Given the description of an element on the screen output the (x, y) to click on. 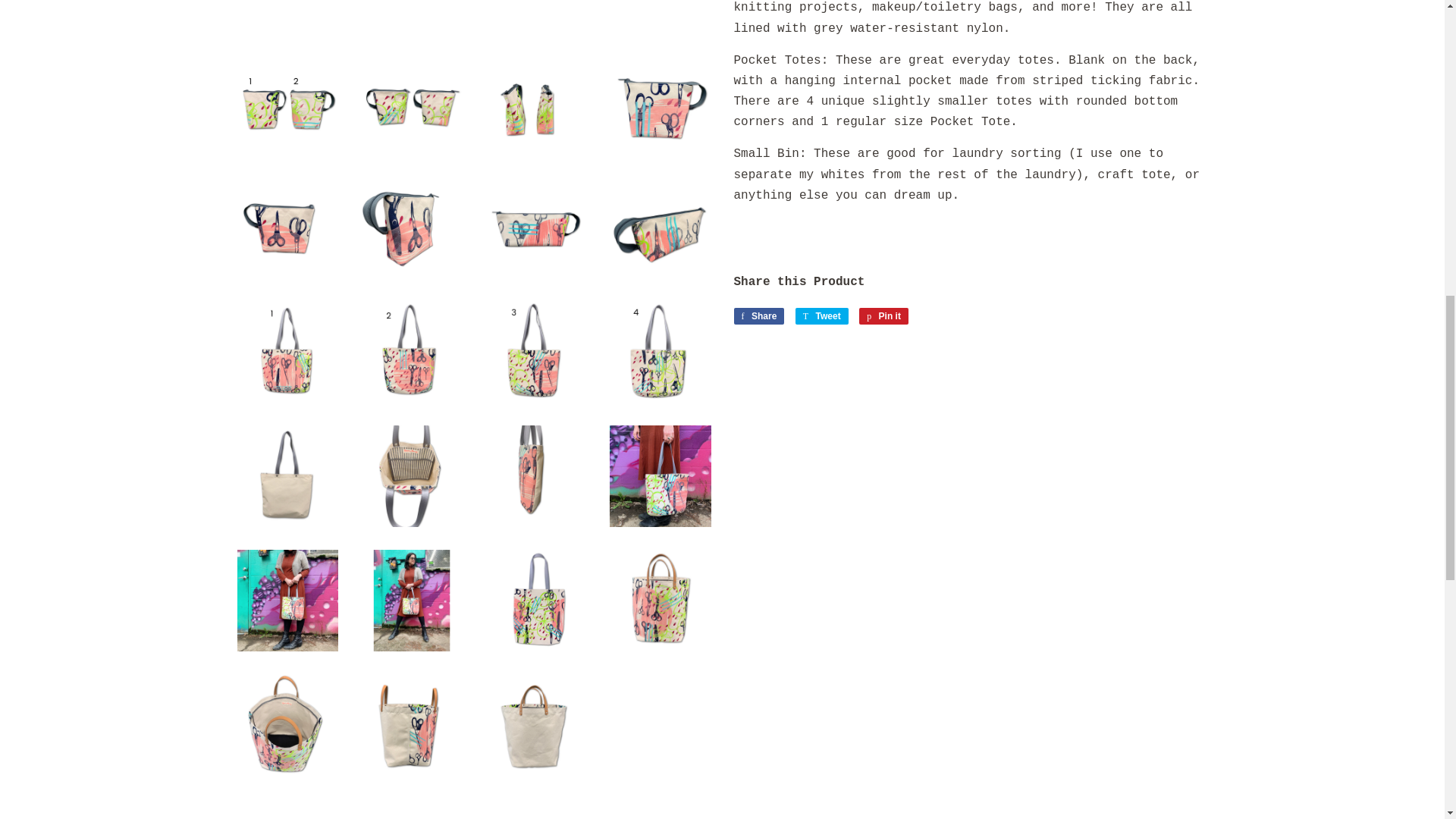
Pin on Pinterest (883, 315)
Tweet on Twitter (821, 315)
Share on Facebook (758, 315)
